Given the description of an element on the screen output the (x, y) to click on. 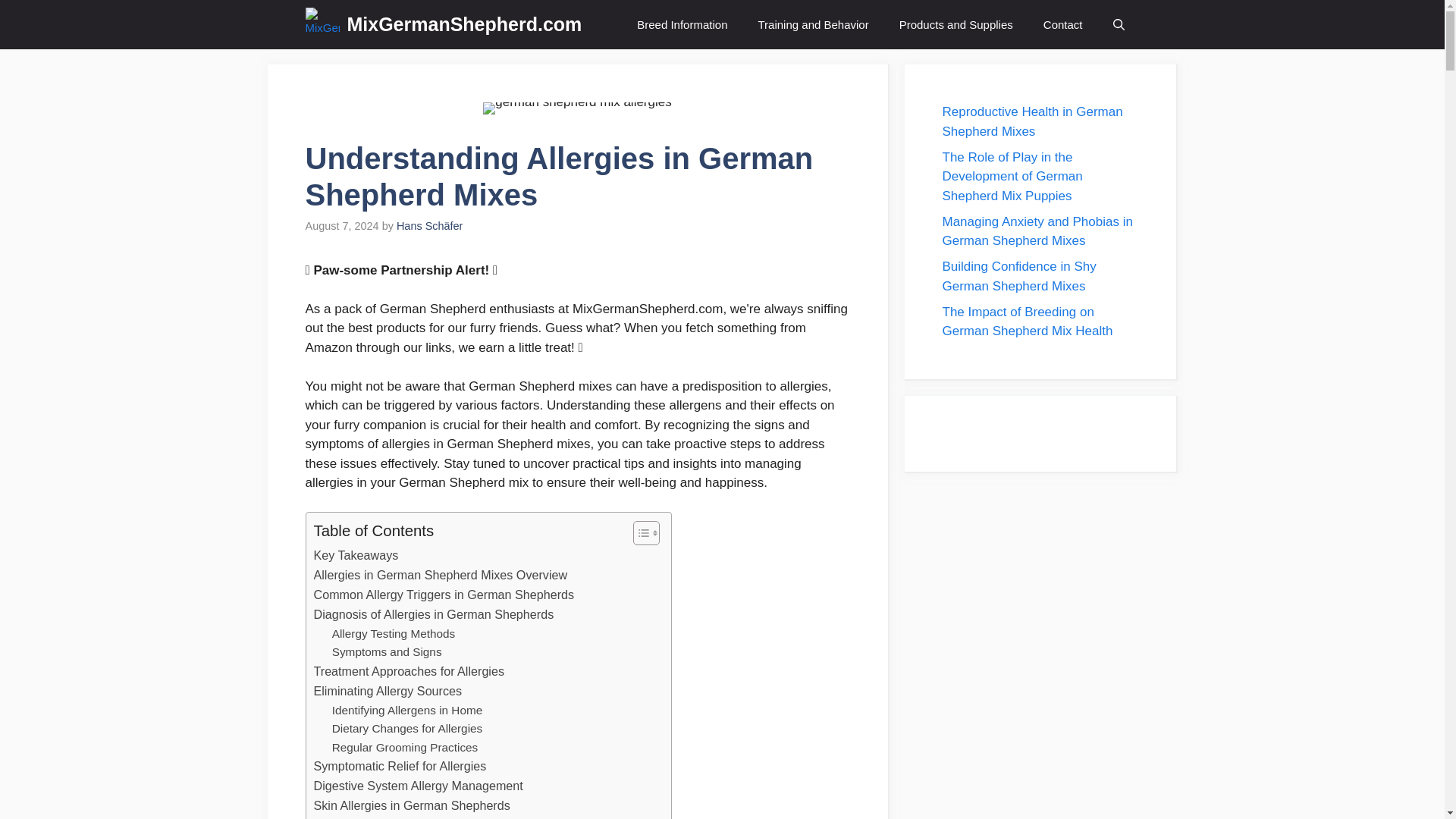
Products and Supplies (955, 24)
Allergies in German Shepherd Mixes Overview (440, 575)
Diagnosis of Allergies in German Shepherds (434, 614)
Regular Grooming Practices (405, 747)
Allergies in German Shepherd Mixes Overview (440, 575)
Key Takeaways (356, 555)
Dietary Changes for Allergies (407, 728)
Skin Allergies in German Shepherds (412, 805)
Symptoms and Signs (386, 651)
Identifying Allergens in Home (407, 710)
